Given the description of an element on the screen output the (x, y) to click on. 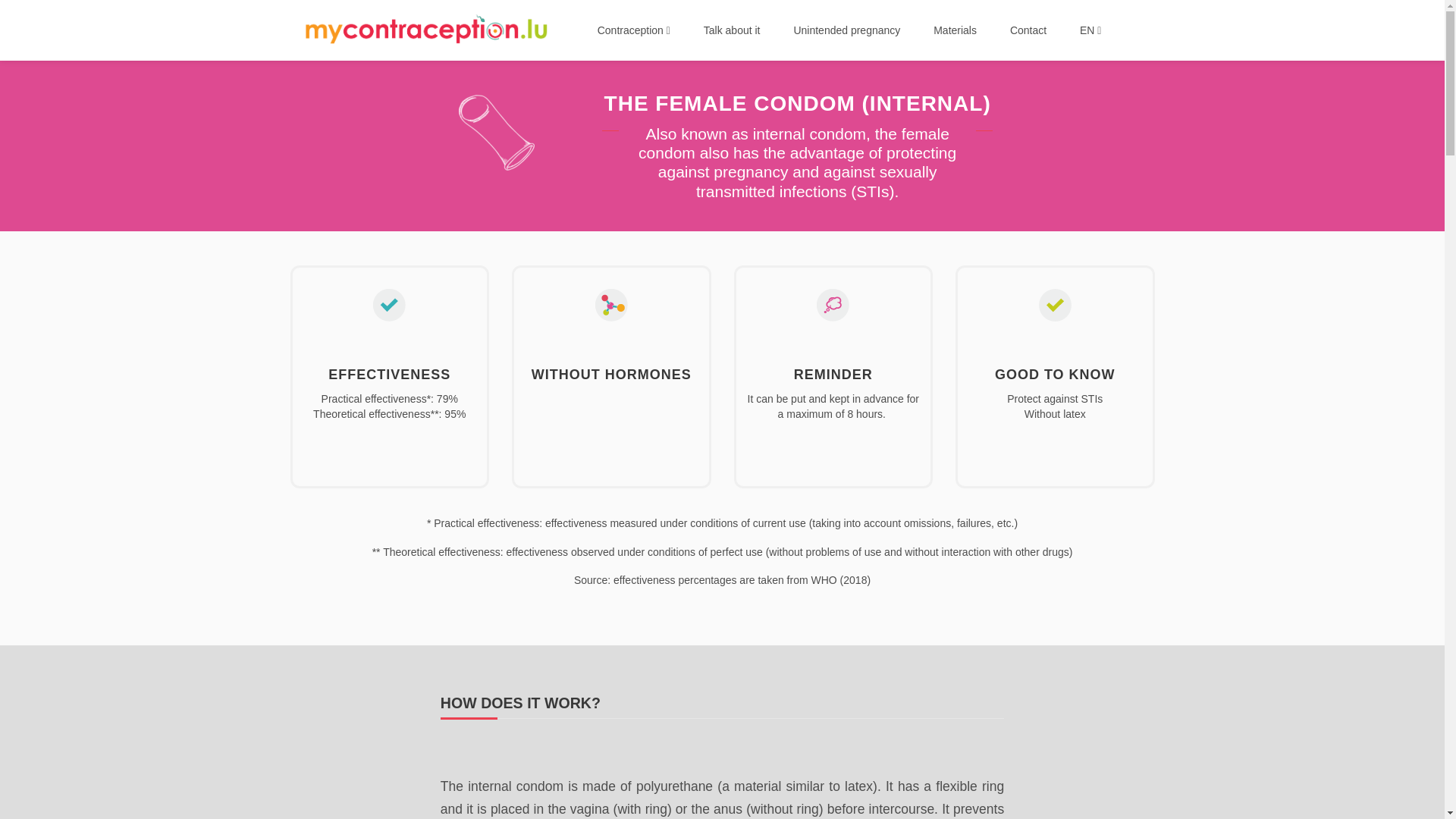
Talk about it (731, 29)
EN (1090, 29)
Contraception (632, 29)
Materials (954, 29)
Unintended pregnancy (846, 29)
Contact (1028, 29)
